Given the description of an element on the screen output the (x, y) to click on. 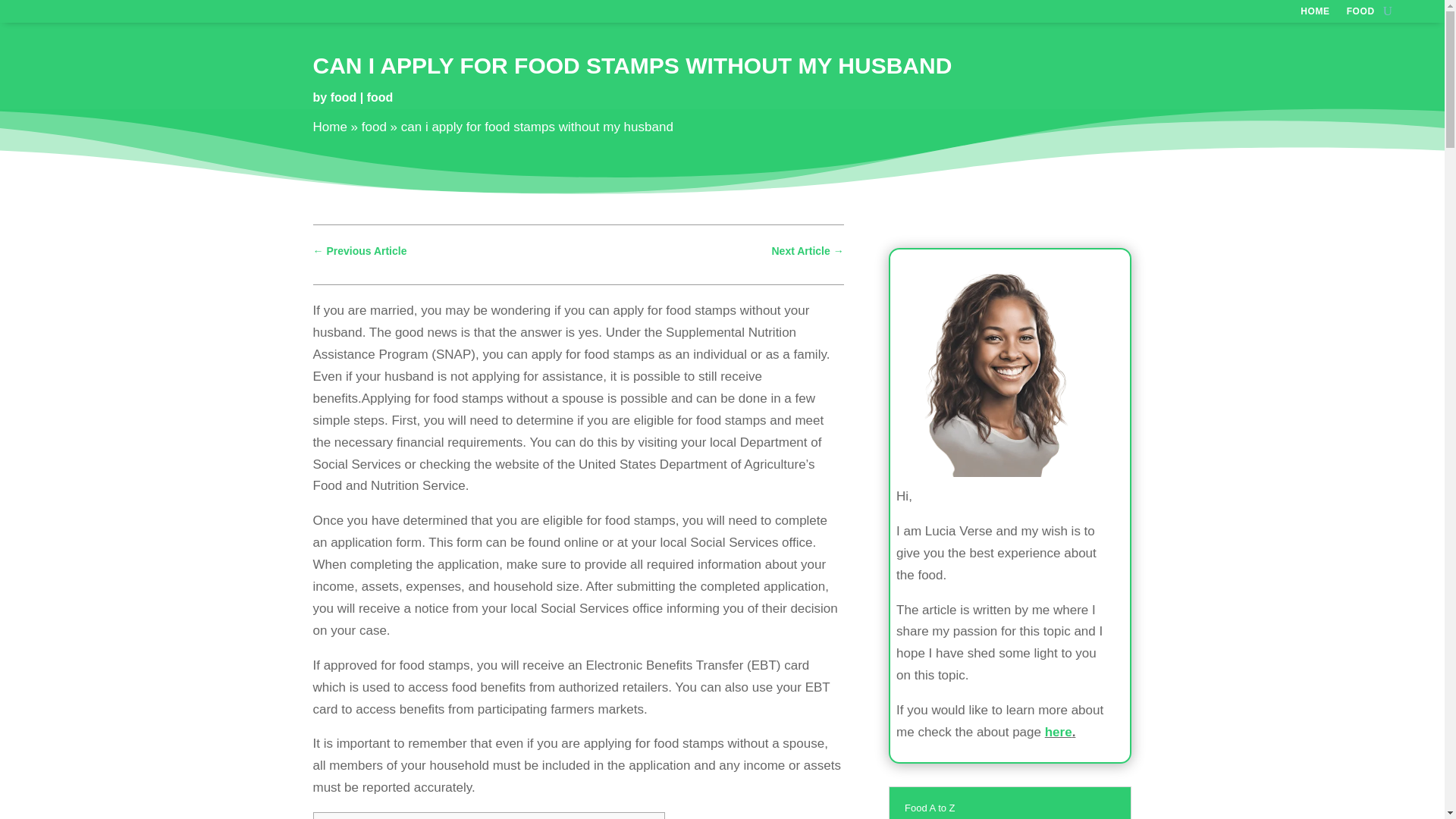
Posts by food (343, 97)
FOOD (1360, 13)
food (379, 97)
food (374, 126)
food (343, 97)
HOME (1314, 13)
here (1058, 731)
Home (329, 126)
